Given the description of an element on the screen output the (x, y) to click on. 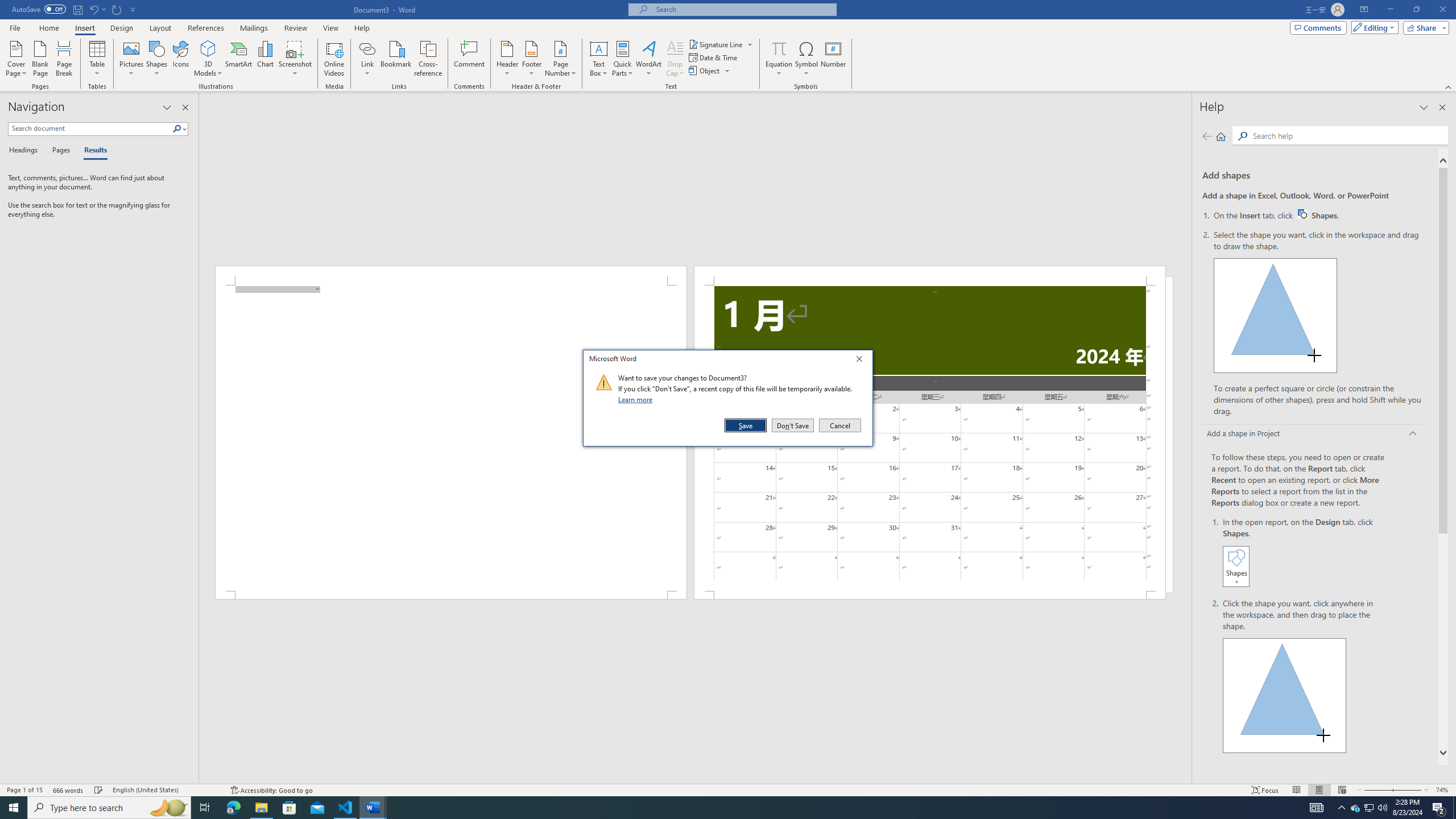
Equation (778, 48)
Table (97, 58)
Microsoft Store (289, 807)
Quick Parts (622, 58)
File Explorer - 1 running window (261, 807)
Page Break (63, 58)
SmartArt... (238, 58)
Class: MsoCommandBar (728, 789)
Cross-reference... (428, 58)
